Given the description of an element on the screen output the (x, y) to click on. 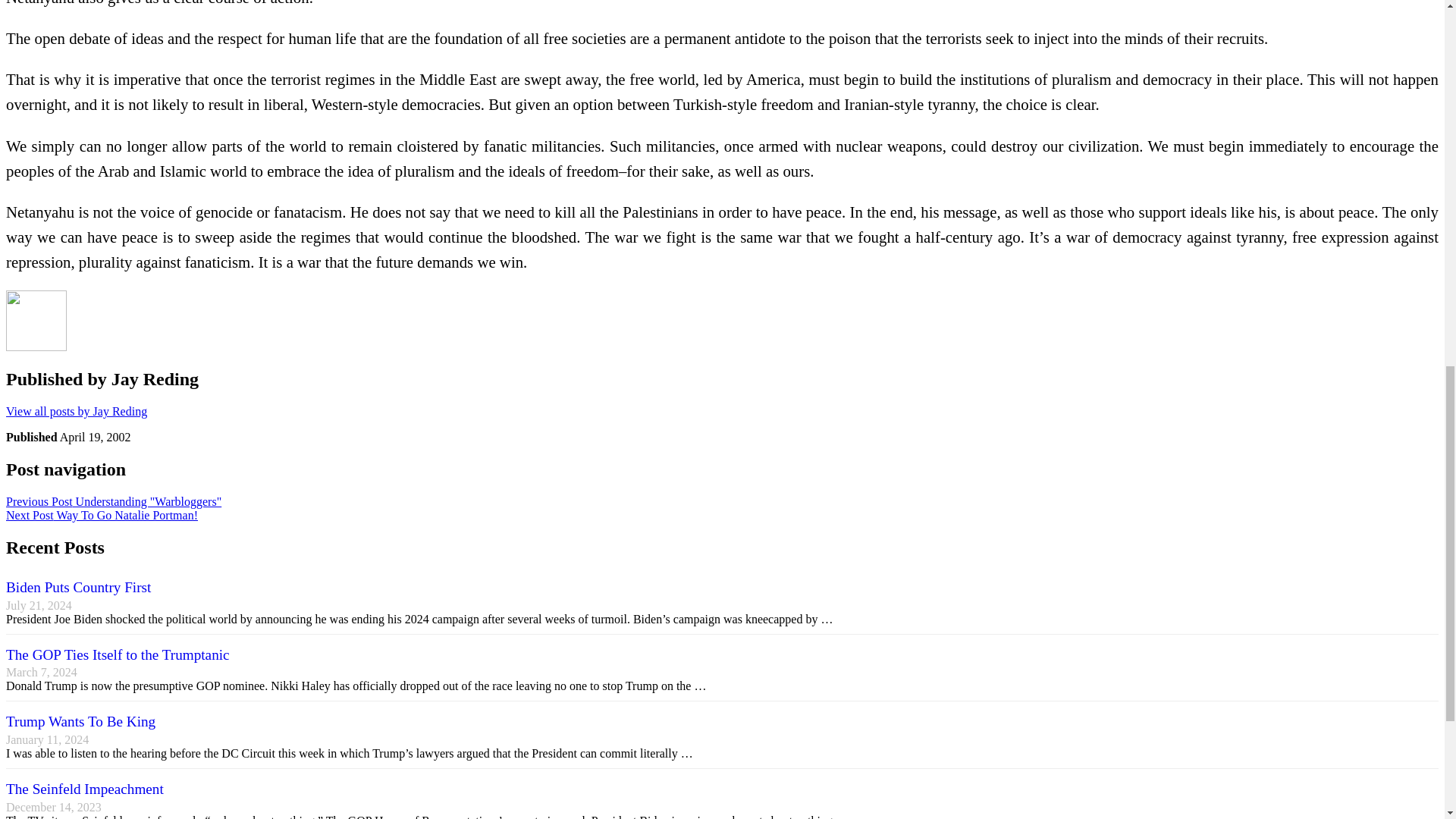
The Seinfeld Impeachment (84, 788)
Biden Puts Country First (78, 587)
The GOP Ties Itself to the Trumptanic (117, 654)
View all posts by Jay Reding (76, 410)
Next Post Way To Go Natalie Portman! (101, 514)
Trump Wants To Be King (80, 721)
Previous Post Understanding "Warbloggers" (113, 501)
